Given the description of an element on the screen output the (x, y) to click on. 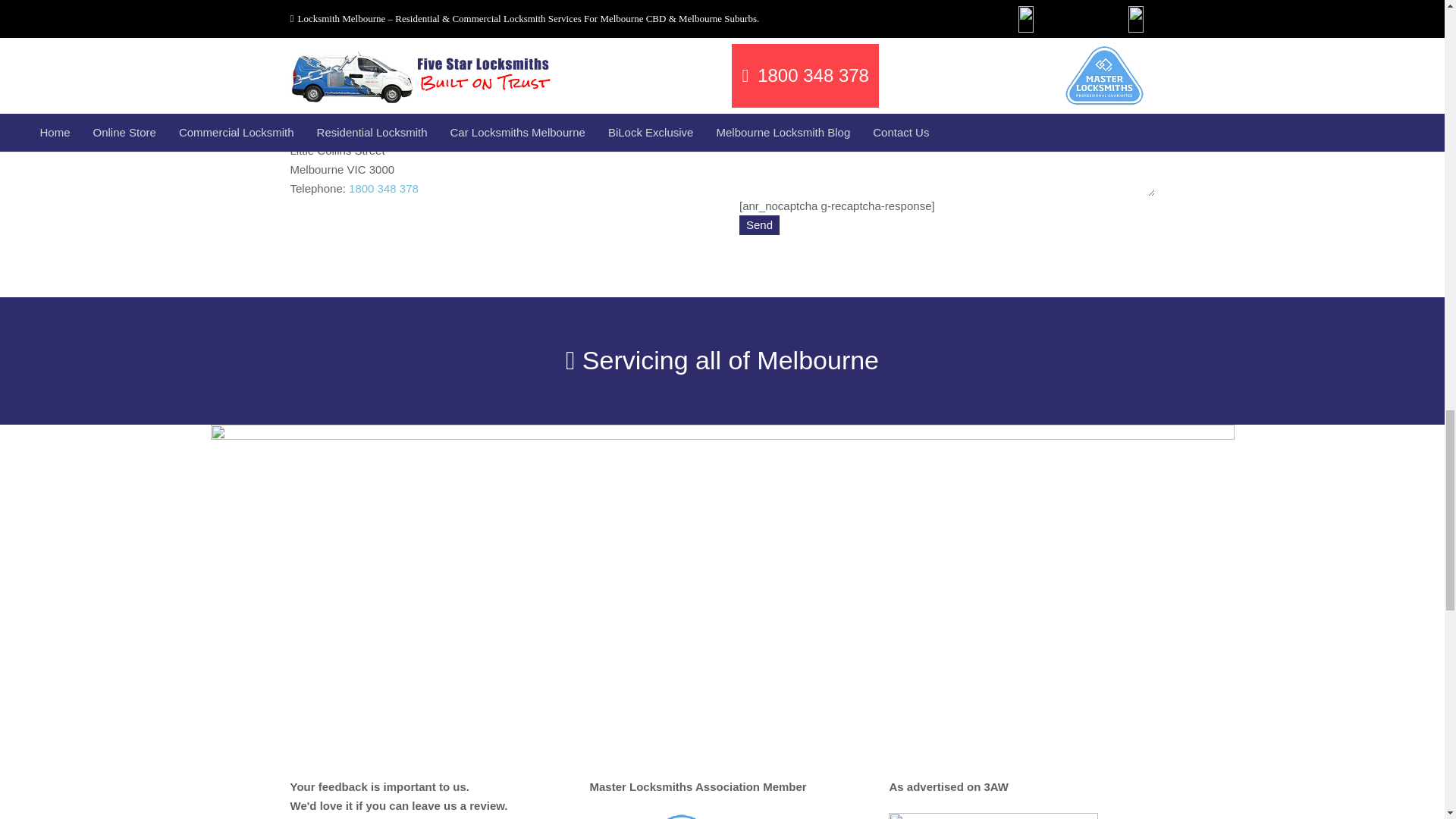
1800 348 378 (384, 187)
Send (758, 225)
Send (758, 225)
1800 348 378 (436, 76)
